Given the description of an element on the screen output the (x, y) to click on. 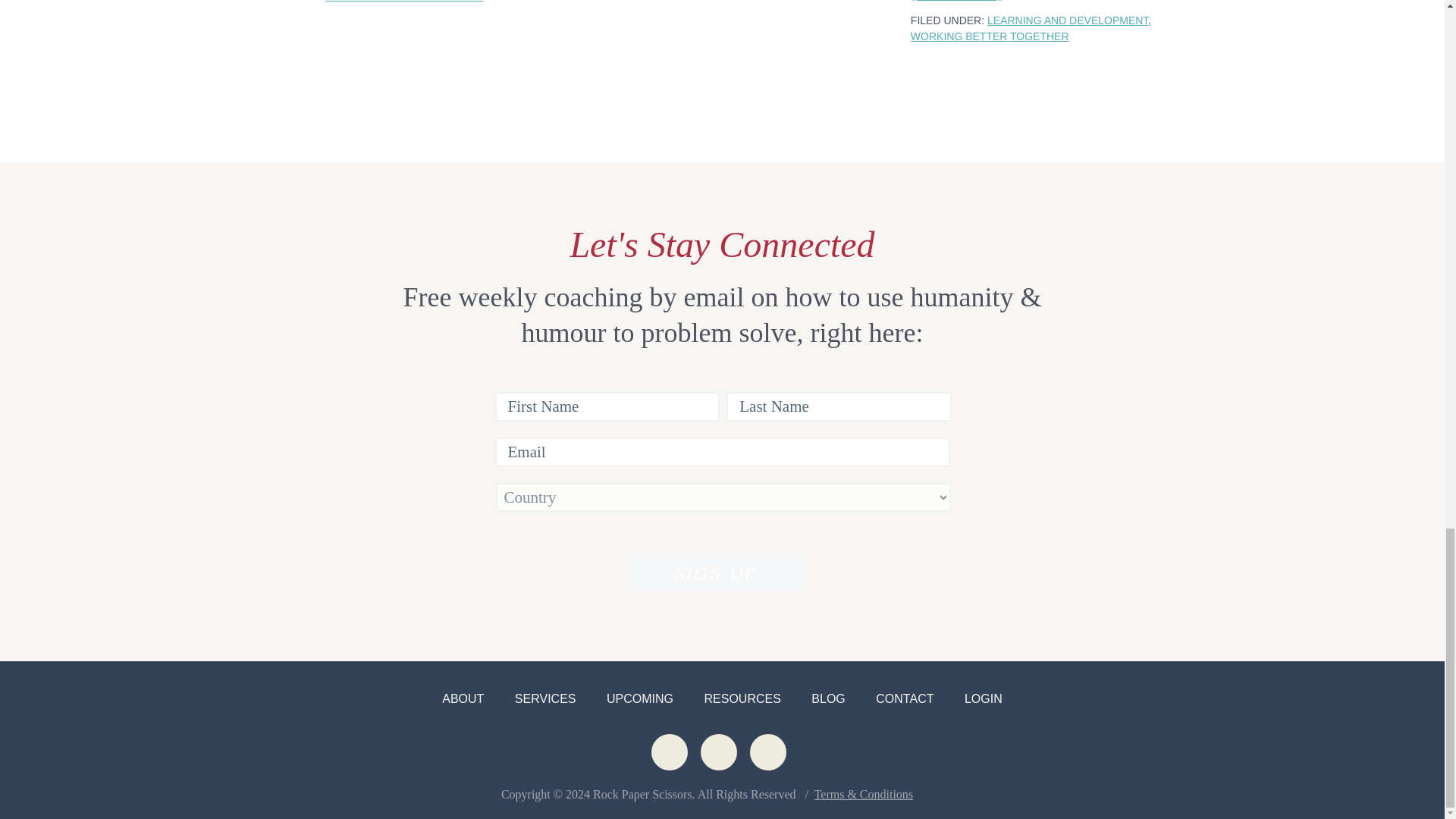
RESOURCES (741, 698)
UPCOMING (639, 698)
WORKING BETTER TOGETHER (989, 36)
Sign Up (715, 572)
Sign Up (715, 572)
LEARNING AND DEVELOPMENT (1067, 19)
ABOUT (462, 698)
SERVICES (545, 698)
WORKING BETTER TOGETHER (403, 1)
